Given the description of an element on the screen output the (x, y) to click on. 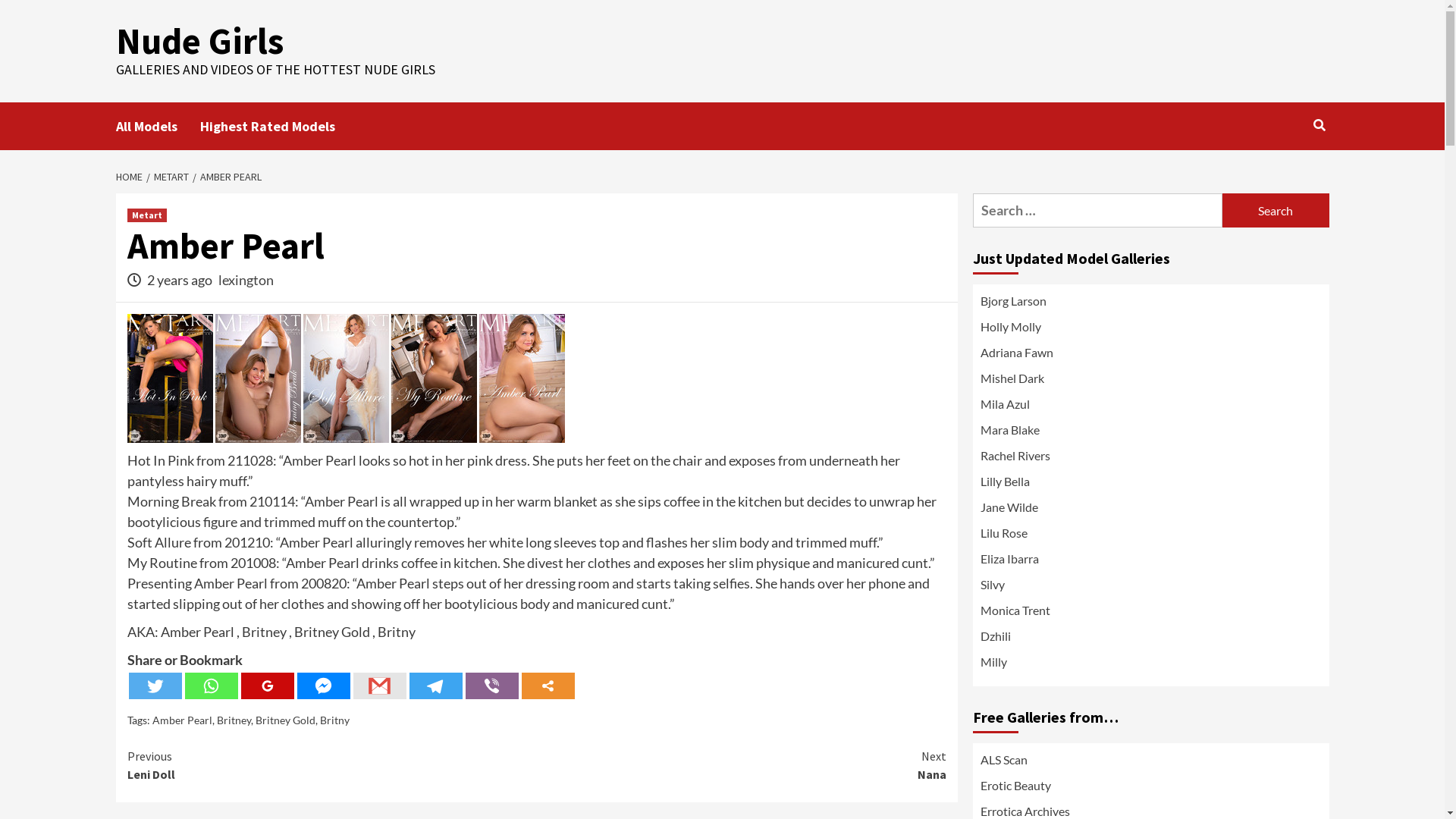
Erotic Beauty Element type: text (1014, 785)
Viber Element type: hover (491, 685)
Silvy Element type: text (1150, 588)
Telegram Element type: hover (435, 685)
Milly Element type: text (1150, 665)
Metart Element type: text (146, 215)
Britney Gold Element type: text (284, 719)
Jane Wilde Element type: text (1150, 511)
More Element type: hover (547, 685)
AMBER PEARL Element type: text (228, 176)
Whatsapp Element type: hover (211, 685)
Bjorg Larson Element type: text (1150, 304)
Dzhili Element type: text (1150, 639)
Search Element type: text (1283, 173)
Search Element type: text (1275, 210)
Nude Girls Element type: text (198, 40)
ALS Scan Element type: text (1002, 759)
Twitter Element type: hover (155, 685)
Adriana Fawn Element type: text (1150, 356)
Holly Molly Element type: text (1150, 330)
Search Element type: hover (1319, 124)
Facebook Messenger Element type: hover (323, 685)
METART Element type: text (168, 176)
Next
Nana Element type: text (741, 764)
All Models Element type: text (157, 126)
lexington Element type: text (245, 279)
Lilly Bella Element type: text (1150, 485)
Google Bookmarks Element type: hover (267, 685)
Lilu Rose Element type: text (1150, 536)
Rachel Rivers Element type: text (1150, 459)
HOME Element type: text (130, 176)
Britny Element type: text (334, 719)
Britney Element type: text (233, 719)
Google Gmail Element type: hover (379, 685)
Mila Azul Element type: text (1150, 407)
Mara Blake Element type: text (1150, 433)
Highest Rated Models Element type: text (278, 126)
Amber Pearl Element type: text (181, 719)
Eliza Ibarra Element type: text (1150, 562)
Monica Trent Element type: text (1150, 614)
Errotica Archives Element type: text (1024, 810)
Mishel Dark Element type: text (1150, 382)
Previous
Leni Doll Element type: text (331, 764)
